Given the description of an element on the screen output the (x, y) to click on. 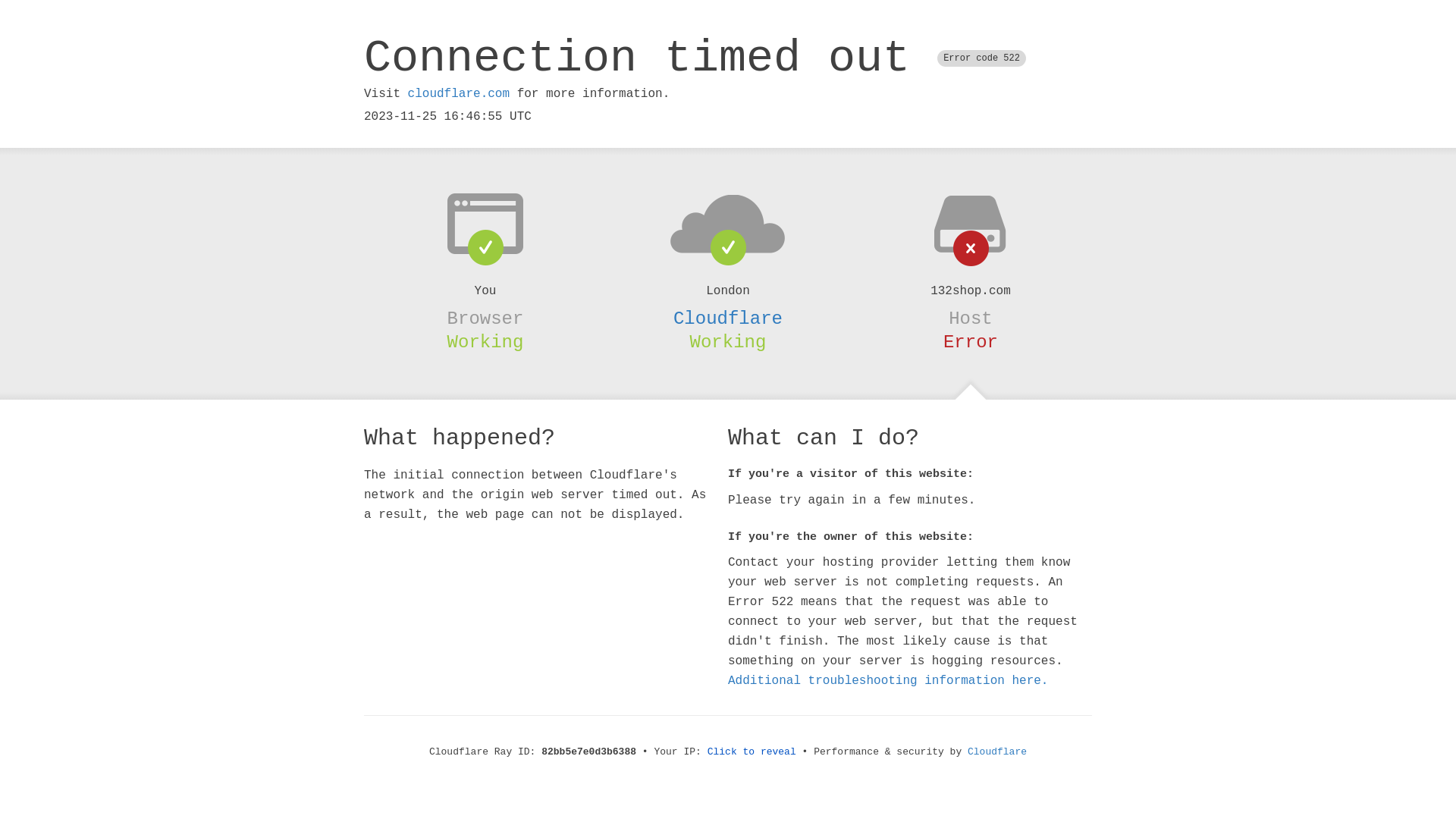
cloudflare.com Element type: text (458, 93)
Cloudflare Element type: text (996, 751)
Cloudflare Element type: text (727, 318)
Additional troubleshooting information here. Element type: text (888, 680)
Click to reveal Element type: text (751, 751)
